Given the description of an element on the screen output the (x, y) to click on. 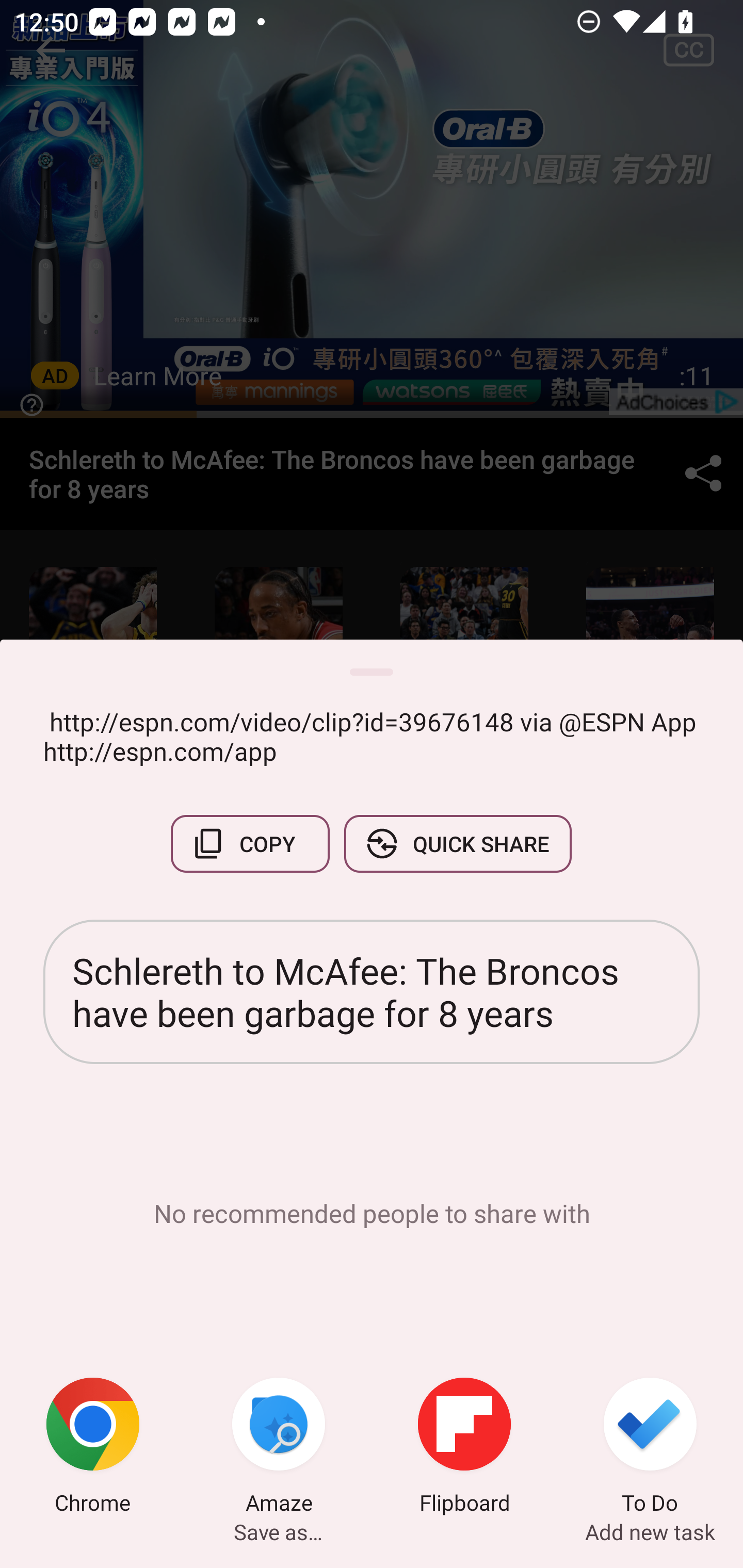
COPY (249, 844)
QUICK SHARE (457, 844)
Chrome (92, 1448)
Amaze Save as… (278, 1448)
Flipboard (464, 1448)
To Do Add new task (650, 1448)
